Given the description of an element on the screen output the (x, y) to click on. 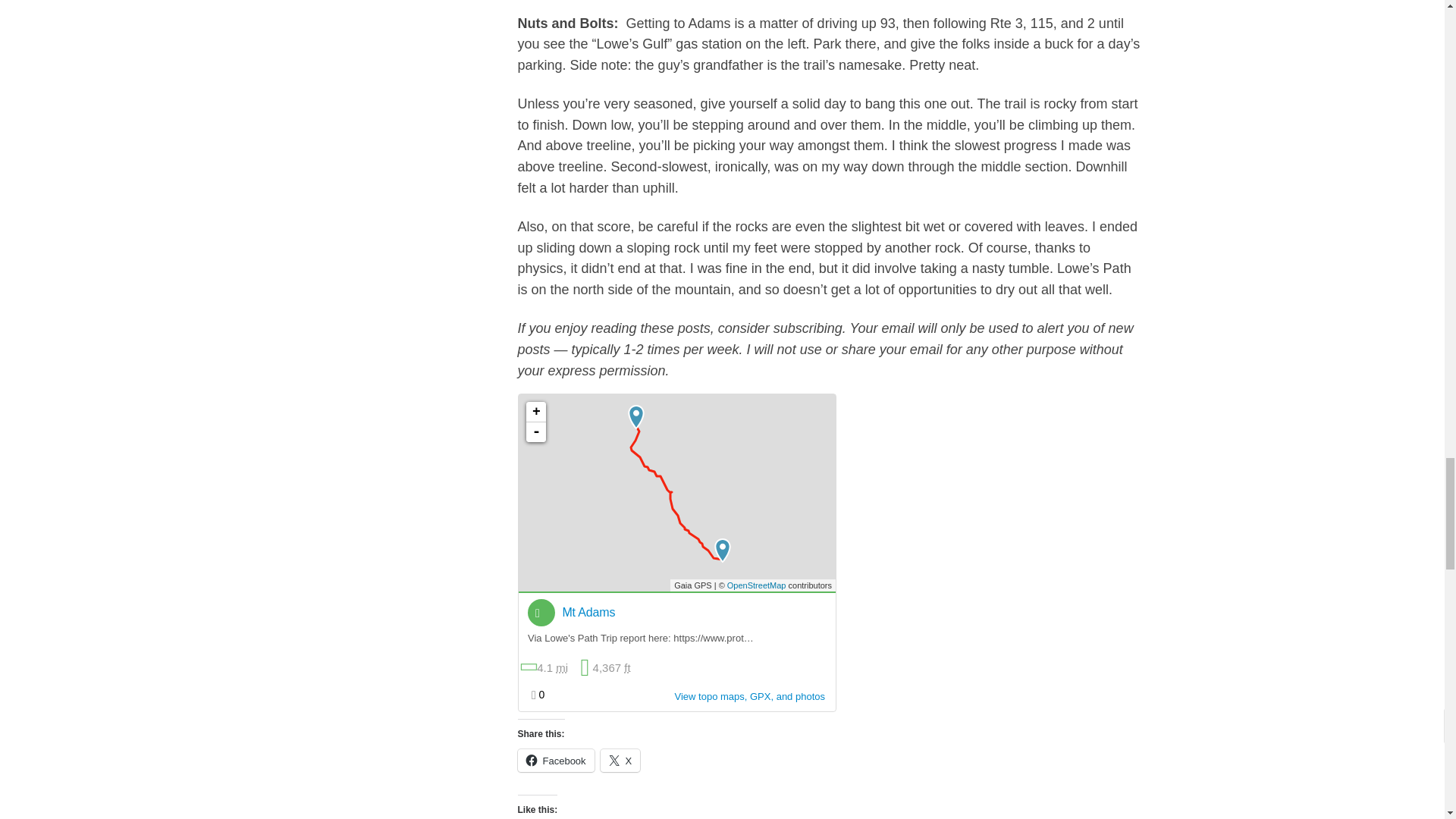
Click to share on X (619, 760)
Click to share on Facebook (555, 760)
